Given the description of an element on the screen output the (x, y) to click on. 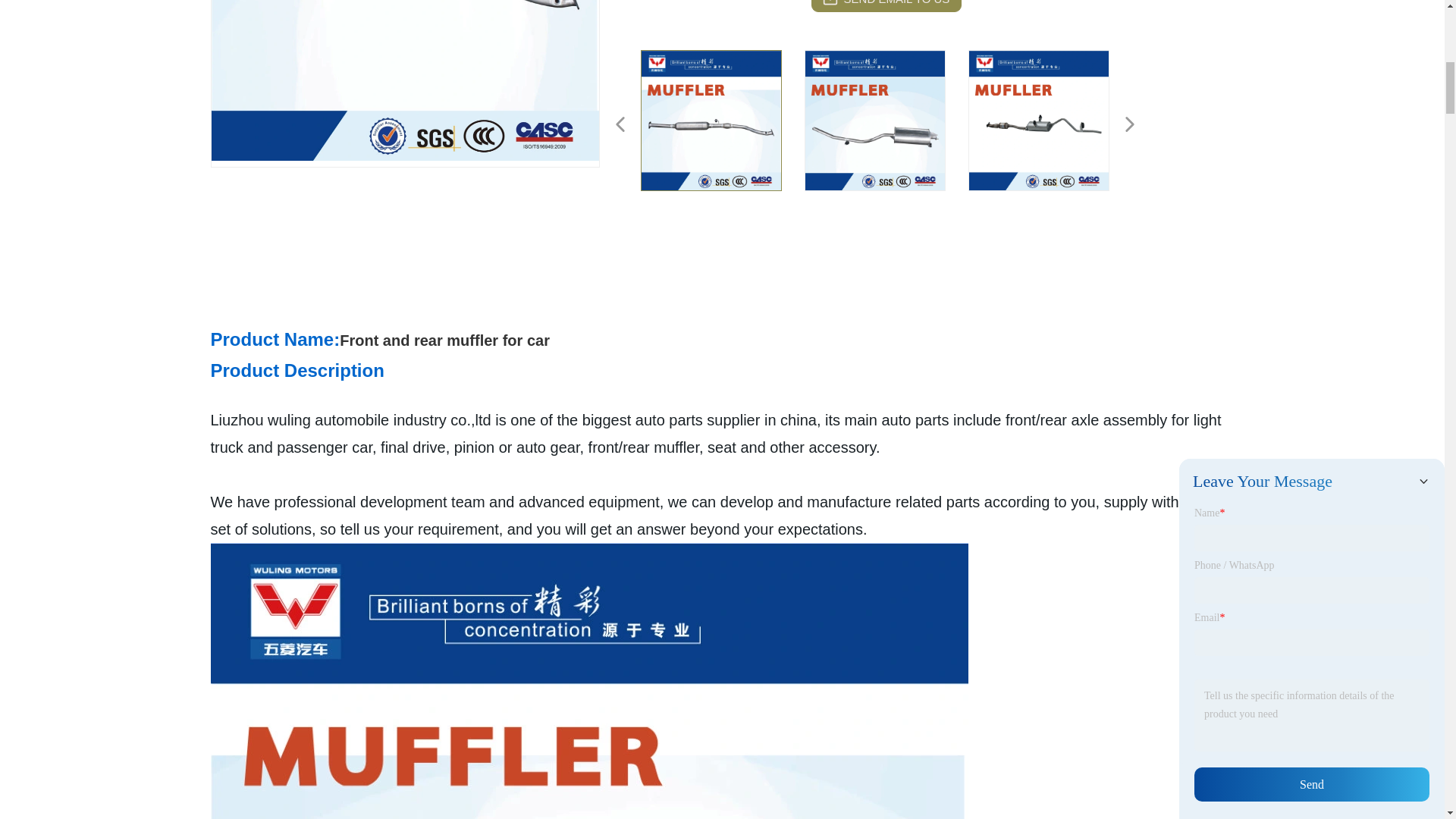
SEND EMAIL TO US (885, 6)
